Given the description of an element on the screen output the (x, y) to click on. 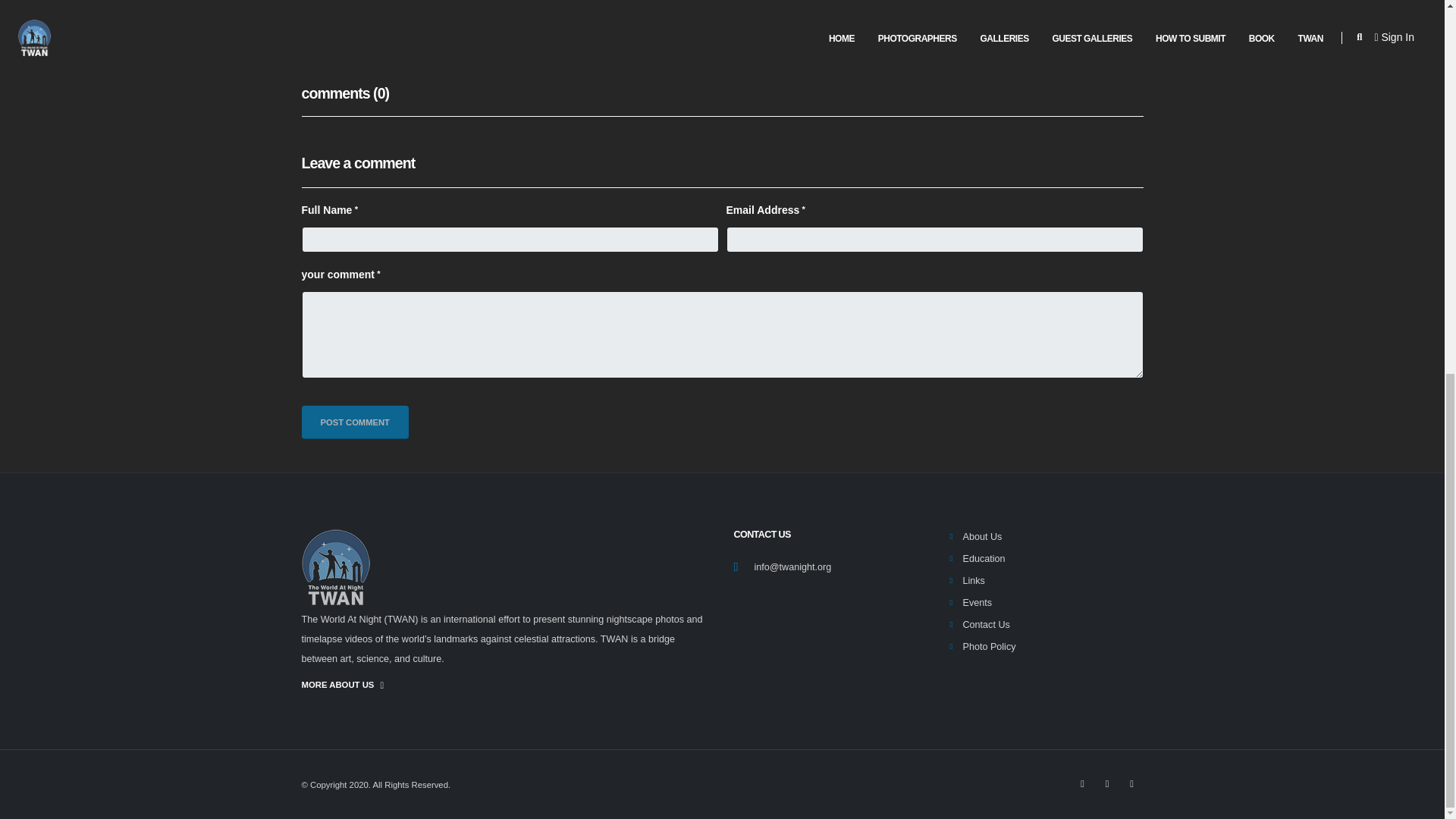
Email (441, 5)
Pinterest (419, 5)
facebook (1131, 783)
Twitter (375, 5)
instagram (1082, 783)
twitter (1107, 783)
Linkedin (397, 5)
Post Comment (355, 421)
Facebook (352, 5)
